Given the description of an element on the screen output the (x, y) to click on. 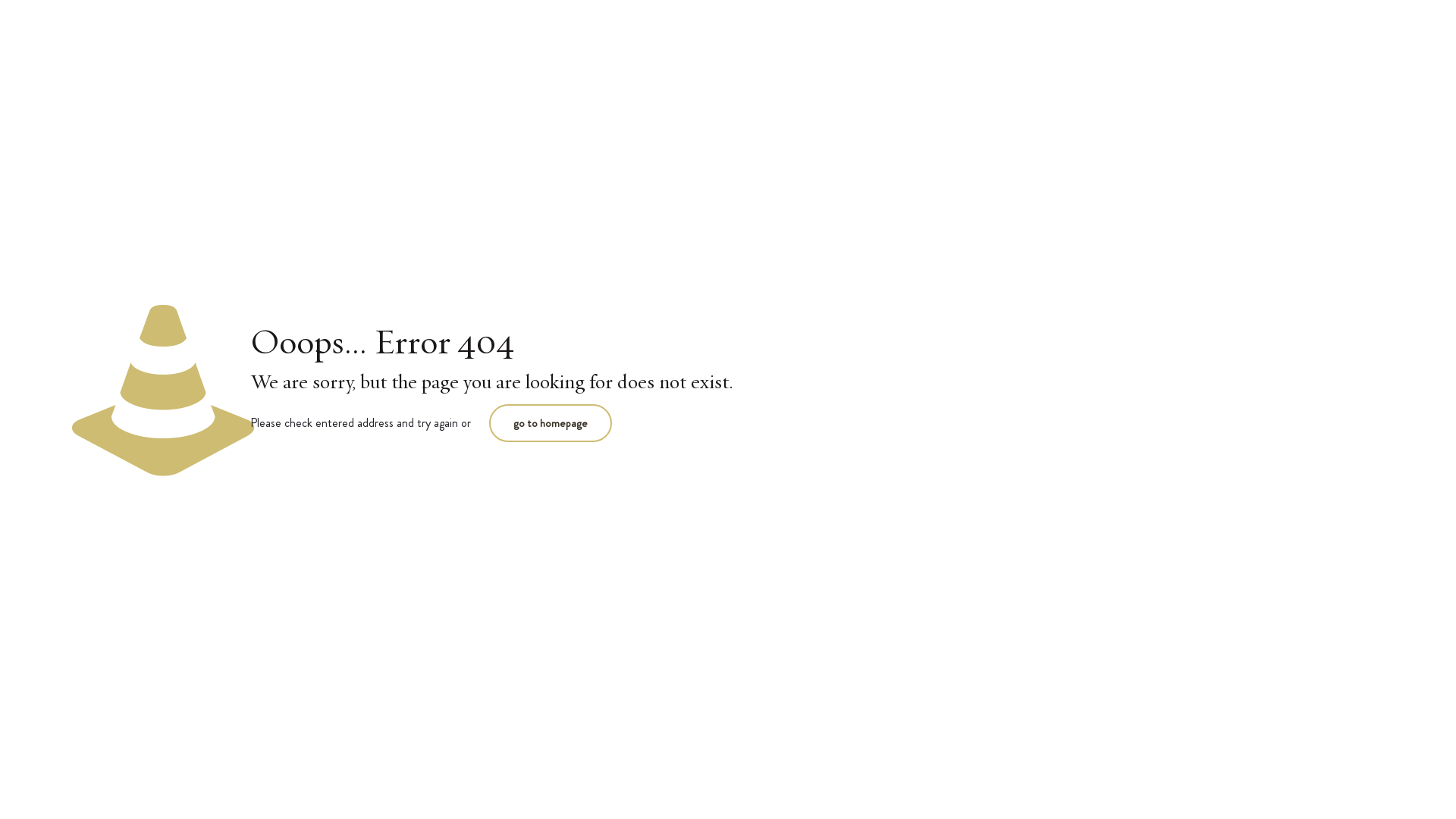
go to homepage Element type: text (550, 423)
